Given the description of an element on the screen output the (x, y) to click on. 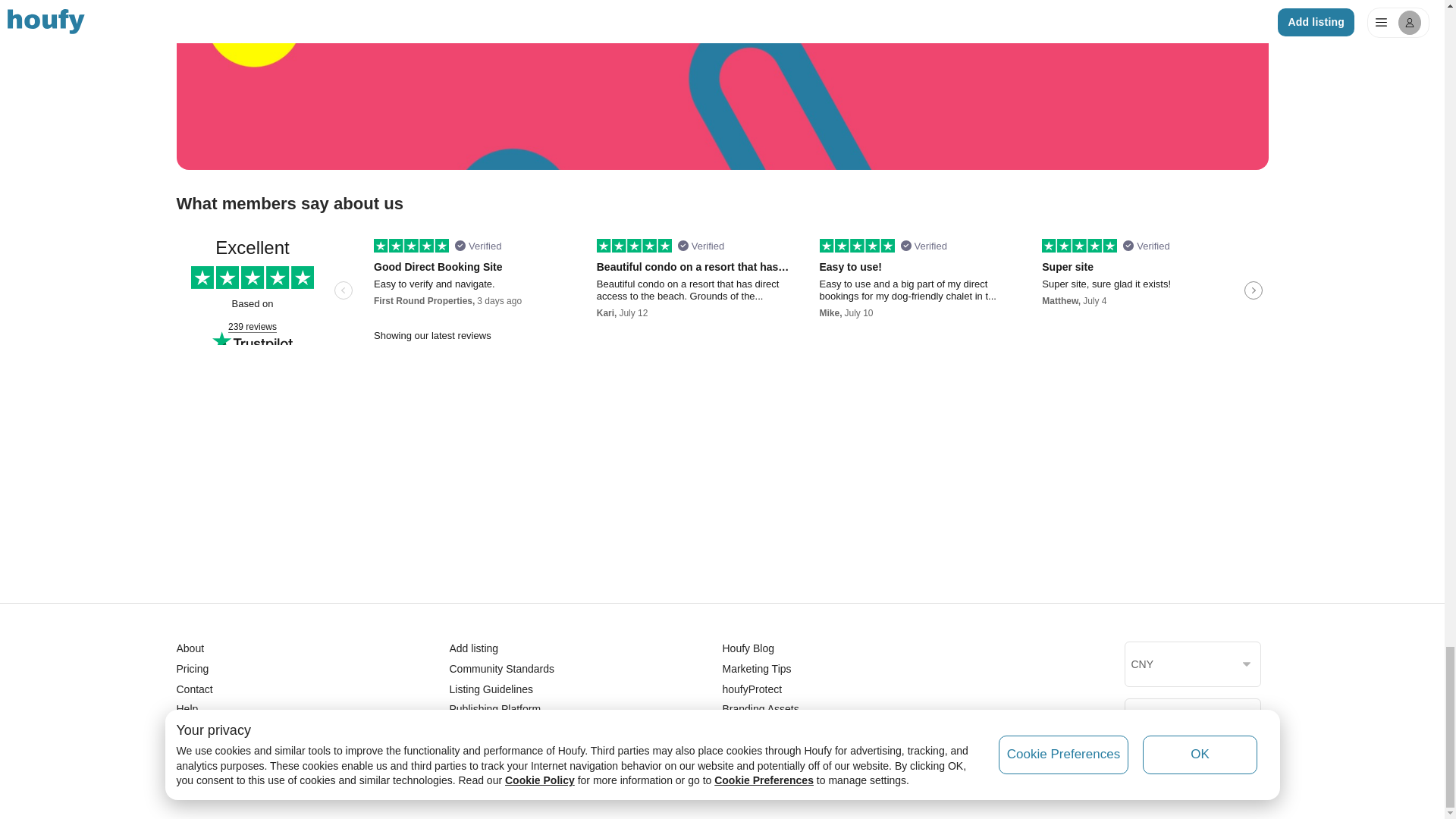
Customer reviews powered by Trustpilot (722, 291)
